Given the description of an element on the screen output the (x, y) to click on. 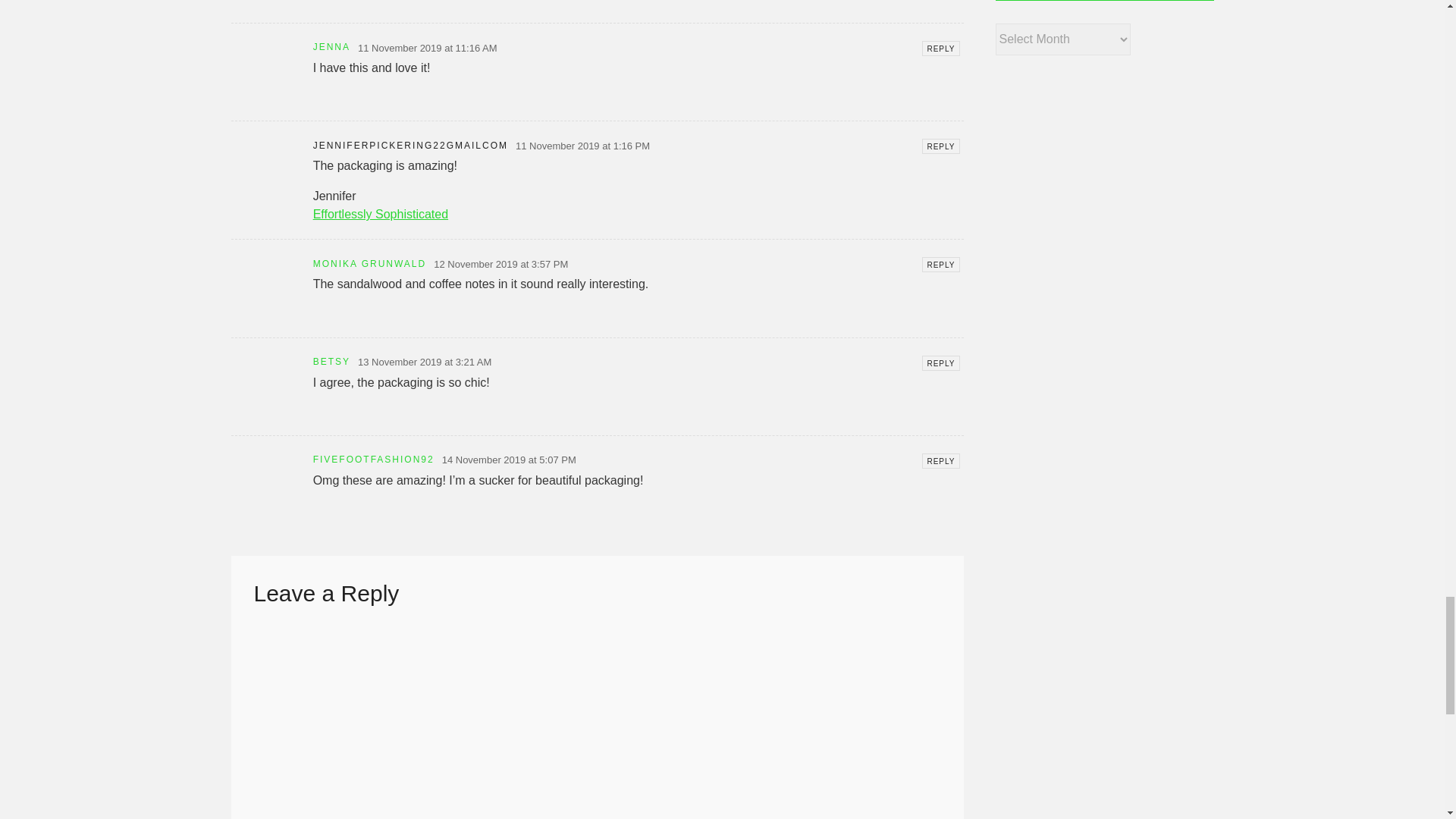
11 November 2019 at 11:16 AM (427, 48)
JENNA (331, 46)
